Given the description of an element on the screen output the (x, y) to click on. 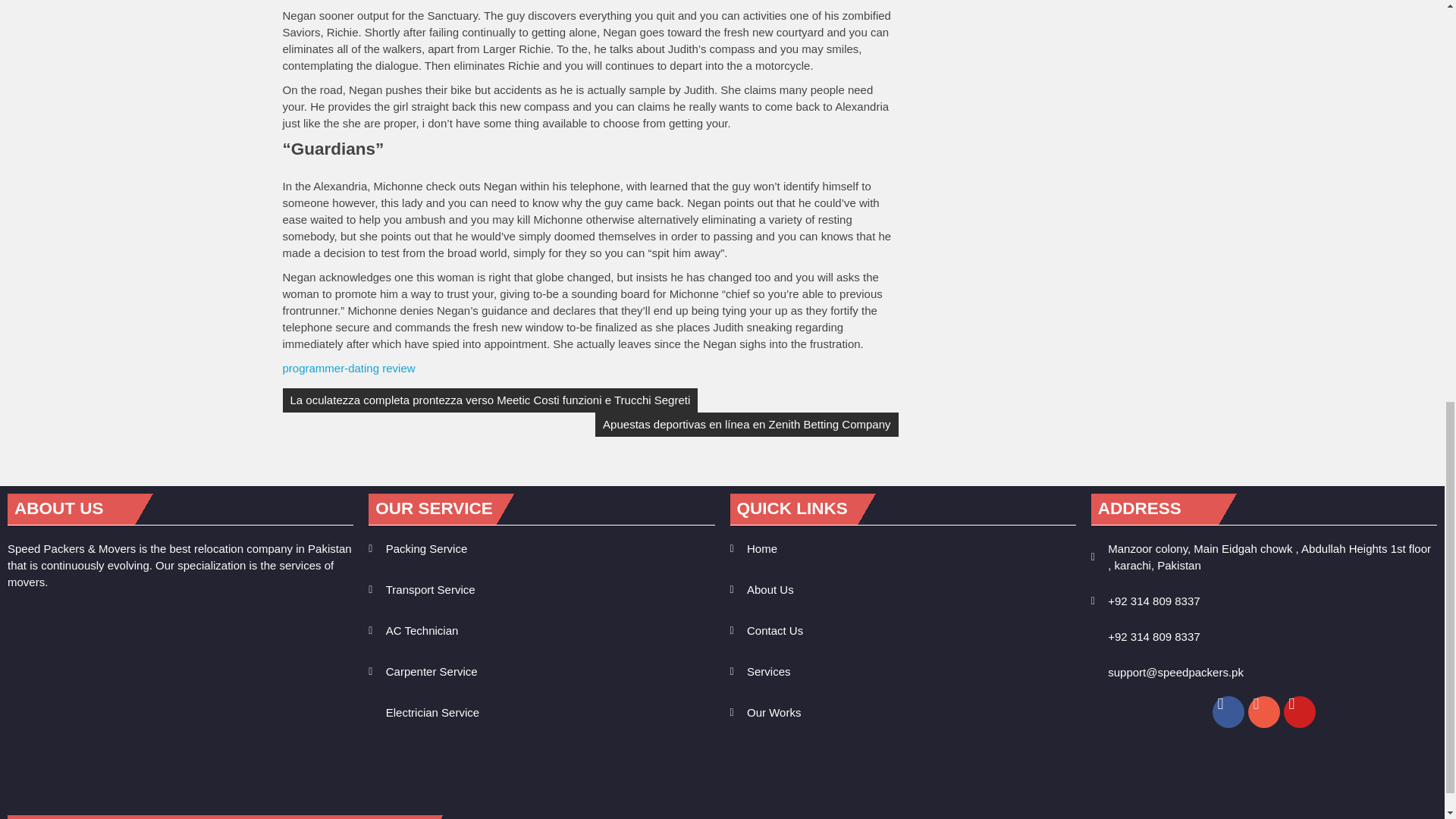
Transport Service (541, 589)
Packing Service (541, 548)
programmer-dating review (348, 367)
